Given the description of an element on the screen output the (x, y) to click on. 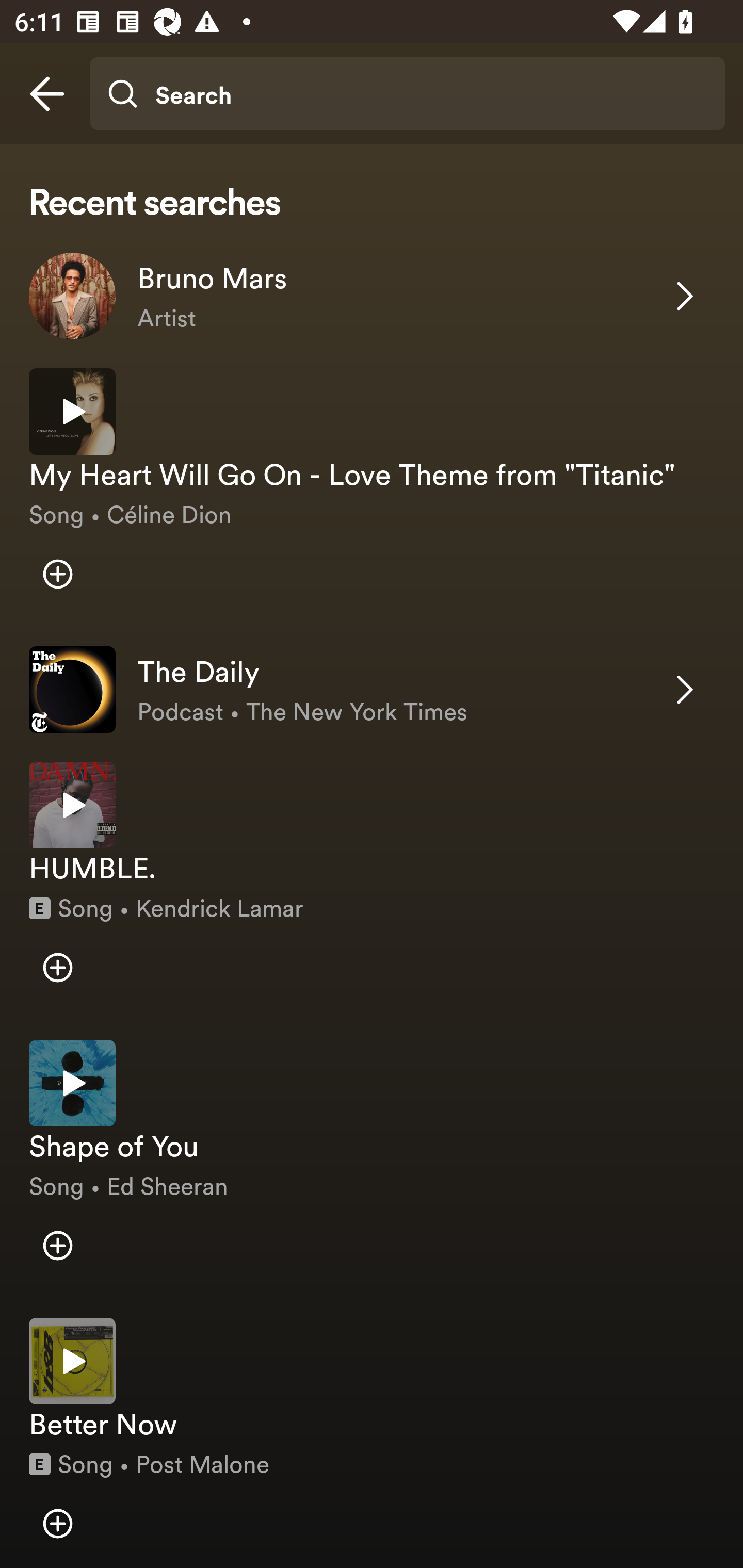
Back (46, 93)
Search (407, 94)
Bruno Mars Artist (371, 296)
Play preview (71, 411)
Add item (57, 573)
The Daily Podcast • The New York Times (371, 689)
Play preview (71, 805)
Add item (57, 967)
Play preview (71, 1082)
Add item (57, 1245)
Play preview (71, 1360)
Add item (57, 1523)
